Given the description of an element on the screen output the (x, y) to click on. 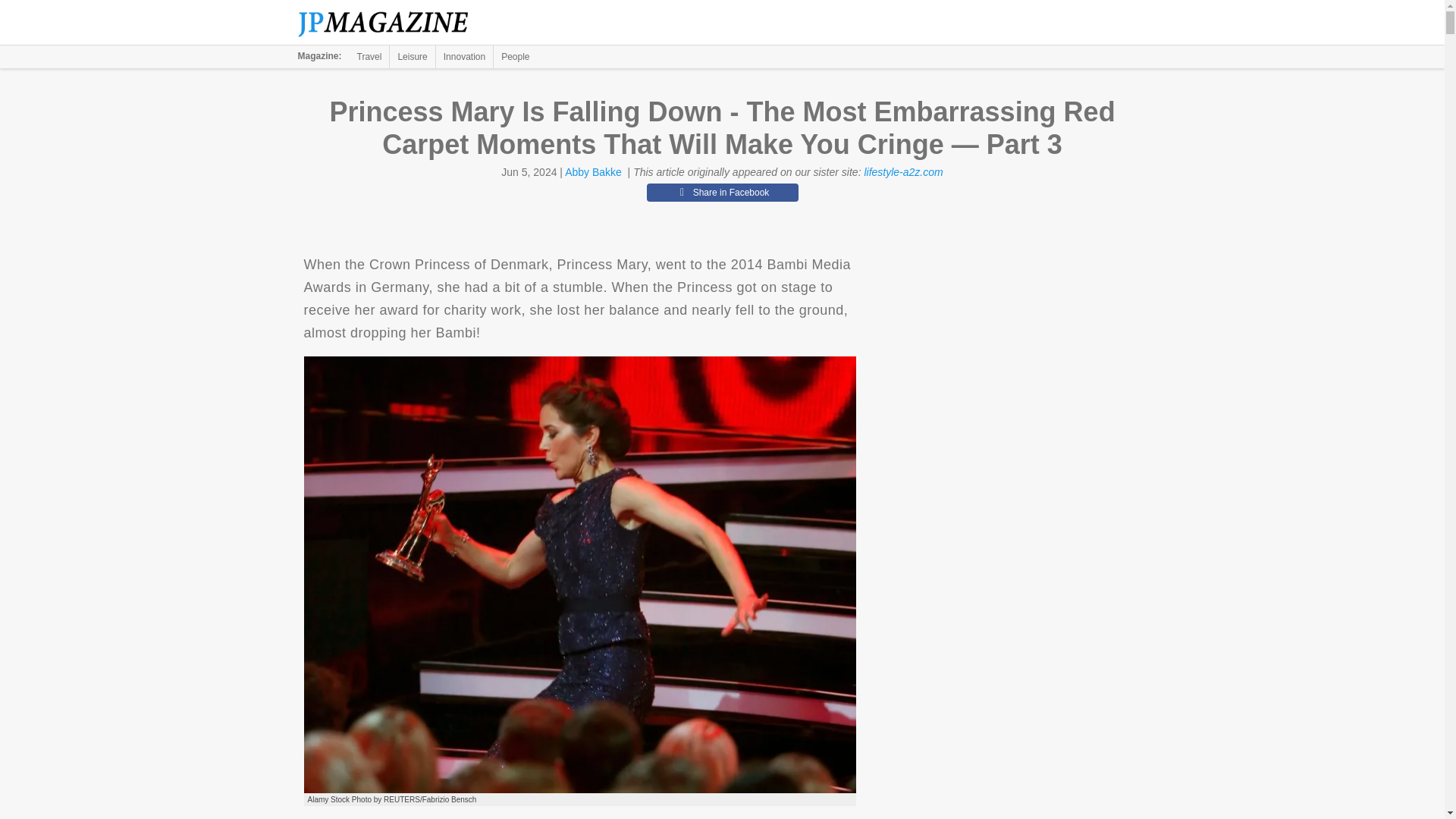
Innovation (464, 56)
People (515, 56)
Share in Facebook (721, 192)
Leisure (411, 56)
The Jerusalem Post Magazine (391, 22)
lifestyle-a2z.com (902, 172)
Travel (369, 56)
Abby Bakke (592, 172)
